Given the description of an element on the screen output the (x, y) to click on. 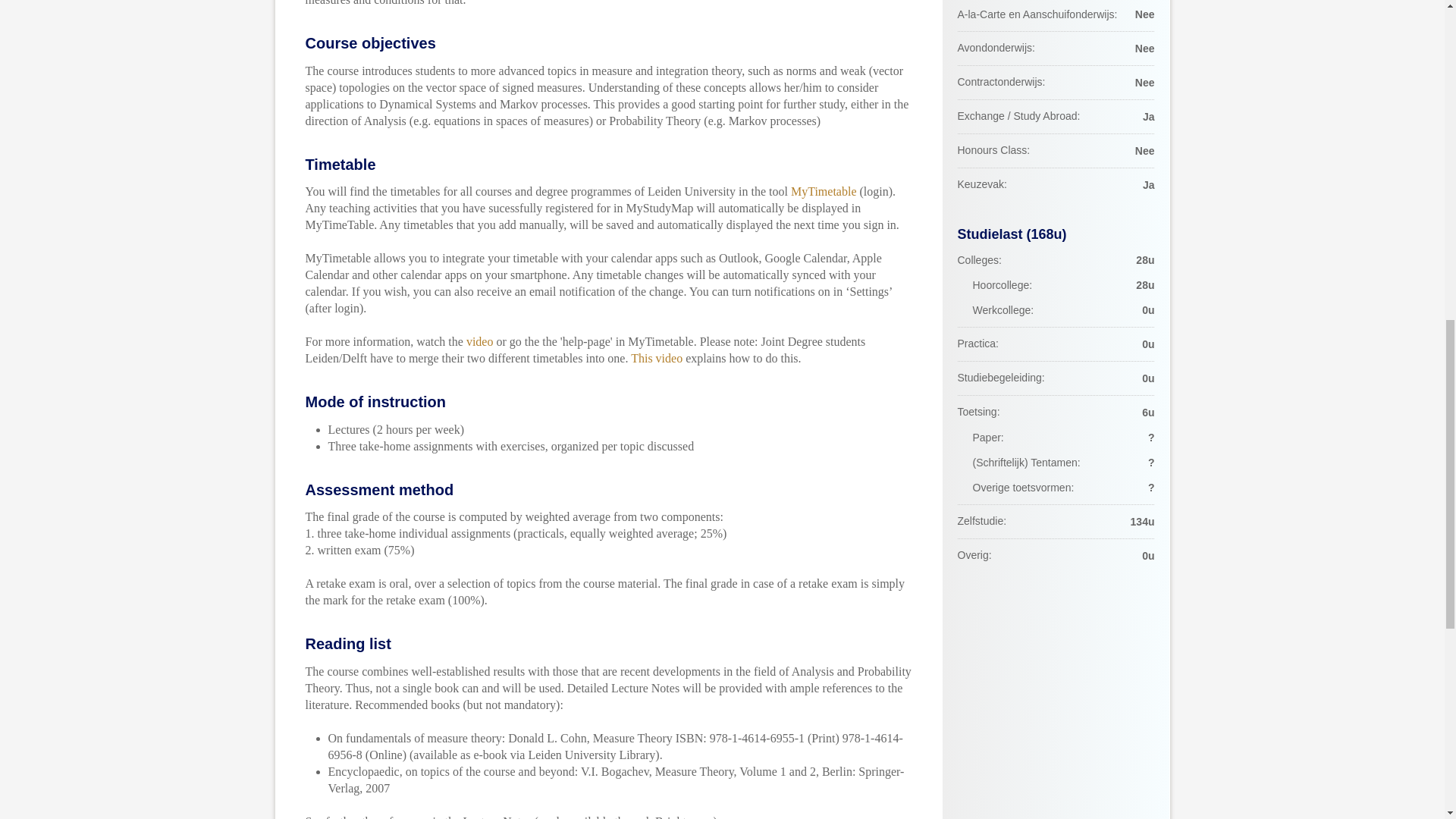
MyTimetable (823, 191)
This video (656, 358)
video (479, 341)
